Given the description of an element on the screen output the (x, y) to click on. 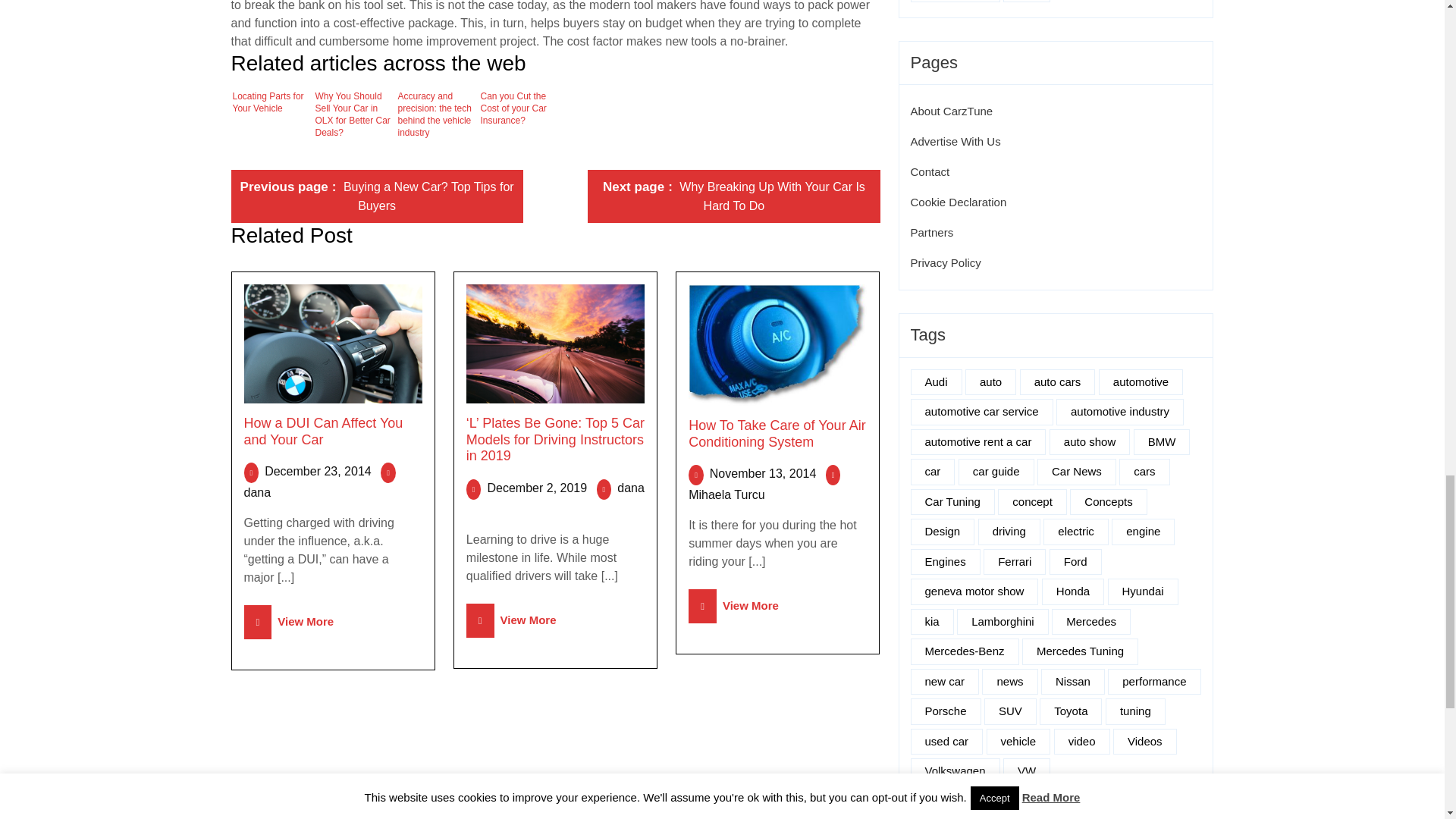
dana (733, 196)
Can you Cut the Cost of your Car Insurance? (376, 196)
December 23, 2014 (257, 492)
How a DUI Can Affect You and Your Car (518, 116)
Locating Parts for Your Vehicle (317, 471)
View More (323, 431)
Why You Should Sell Your Car in OLX for Better Car Deals? (269, 116)
Accuracy and precision: the tech behind the vehicle industry (289, 621)
